Given the description of an element on the screen output the (x, y) to click on. 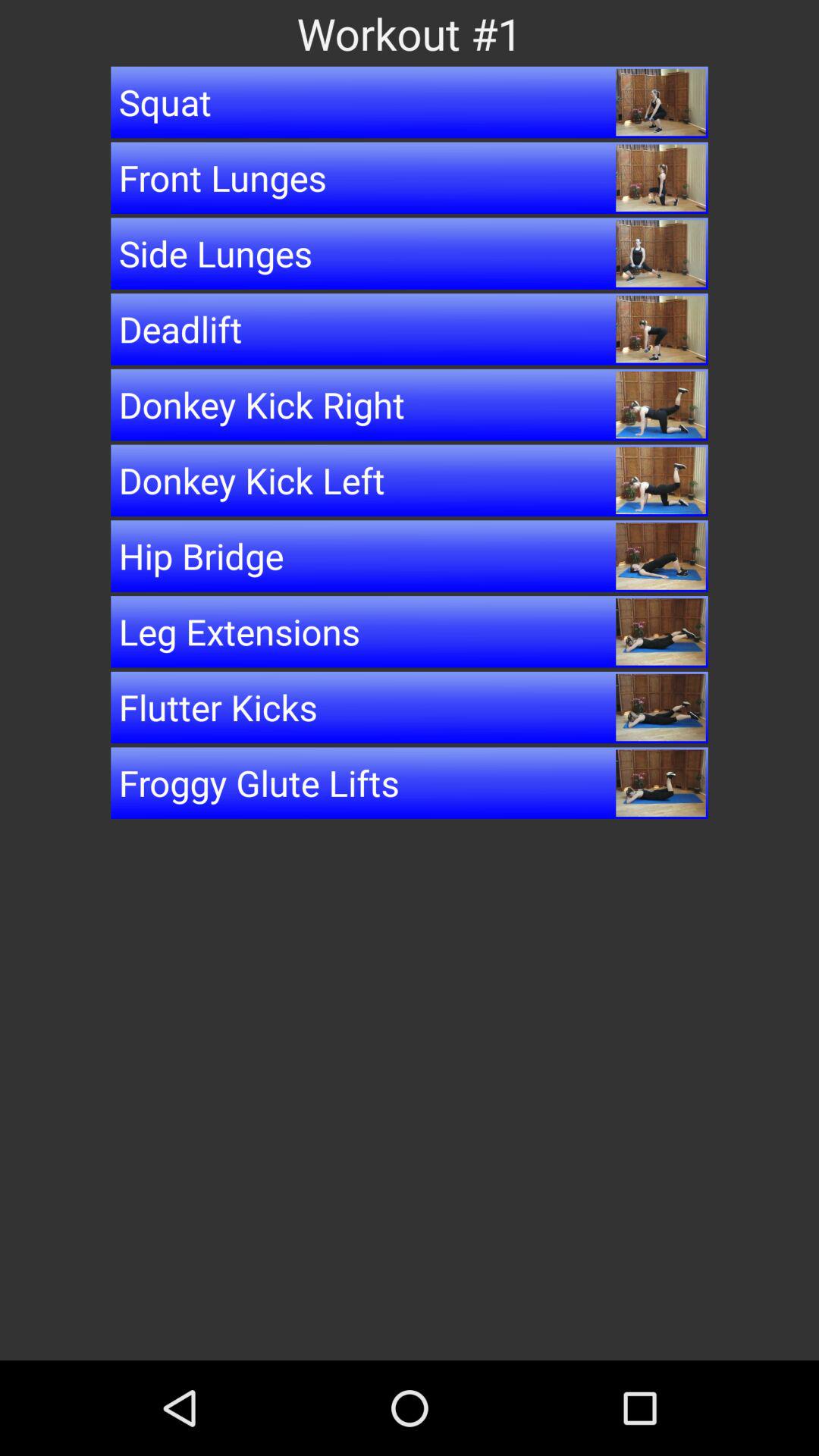
turn off the button below leg extensions item (409, 707)
